Given the description of an element on the screen output the (x, y) to click on. 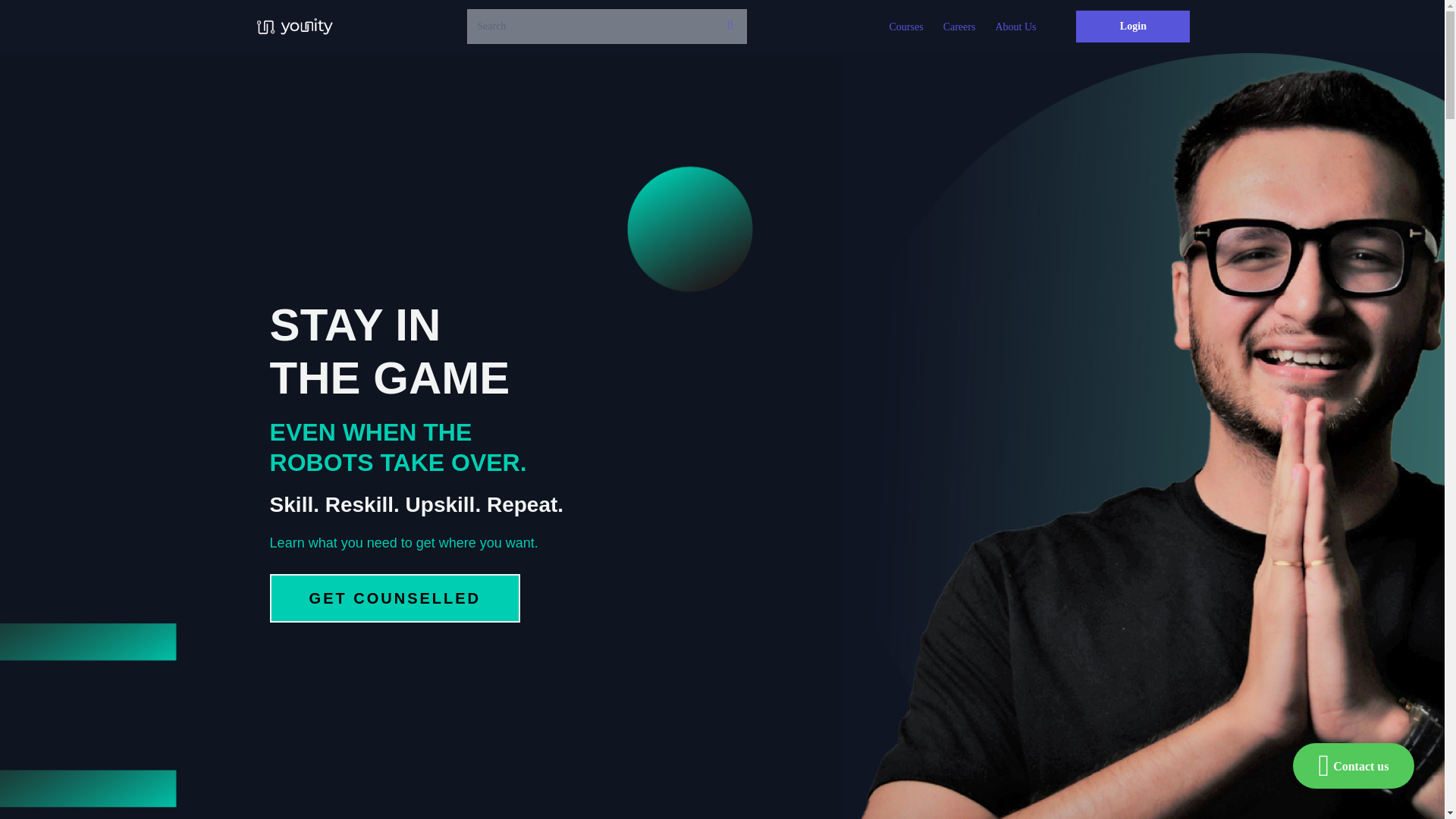
Careers (959, 26)
Contact us (1352, 765)
Courses (906, 26)
About Us (1015, 26)
Login (1132, 26)
GET COUNSELLED (394, 597)
